Given the description of an element on the screen output the (x, y) to click on. 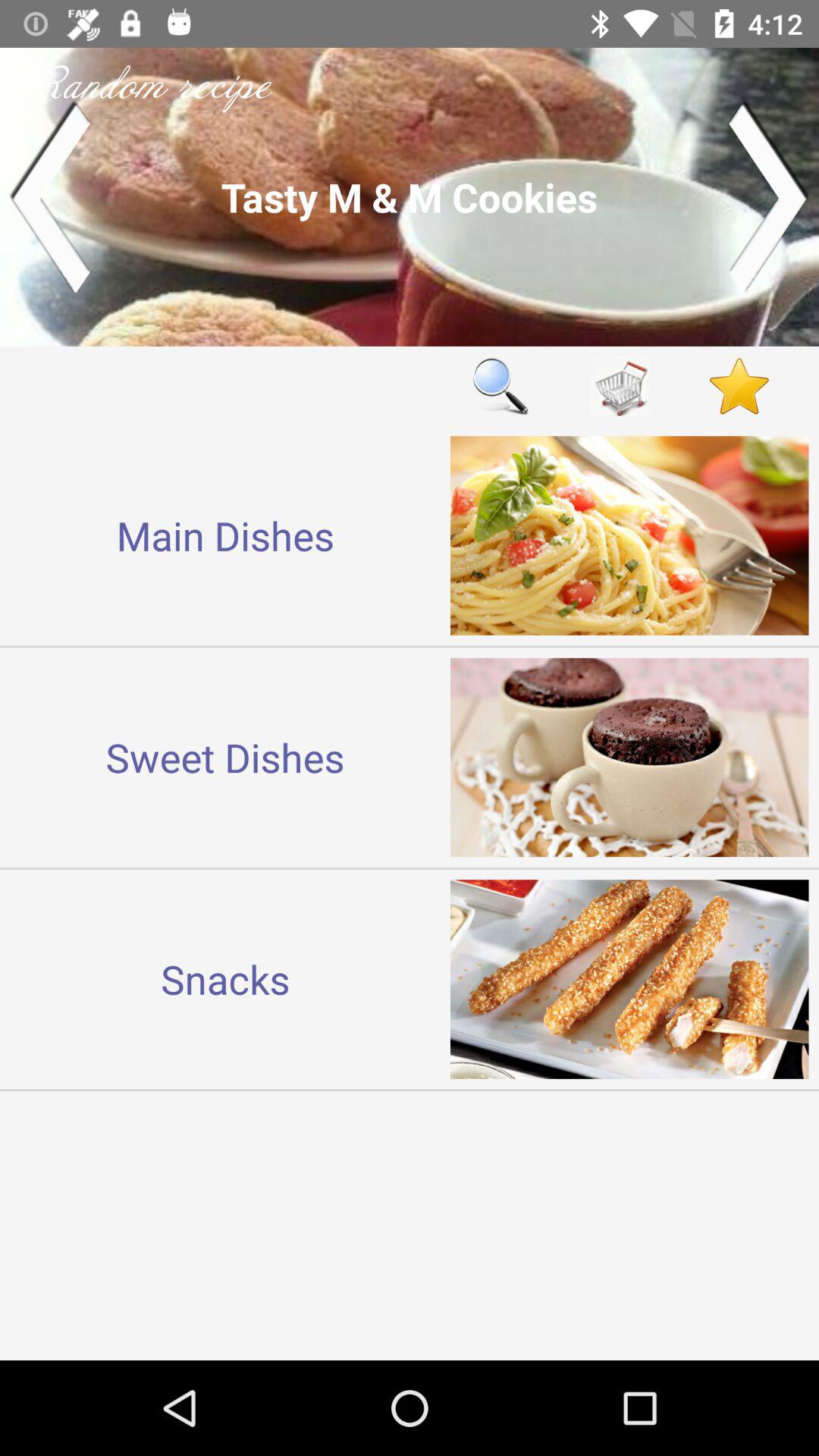
adicionar a seus favoritos (739, 385)
